Given the description of an element on the screen output the (x, y) to click on. 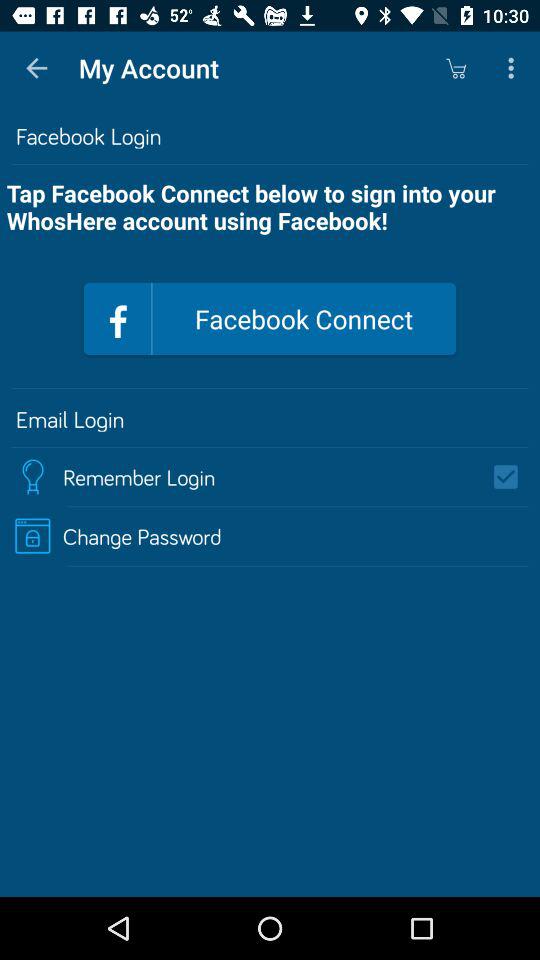
turn off the item above facebook login item (513, 67)
